Given the description of an element on the screen output the (x, y) to click on. 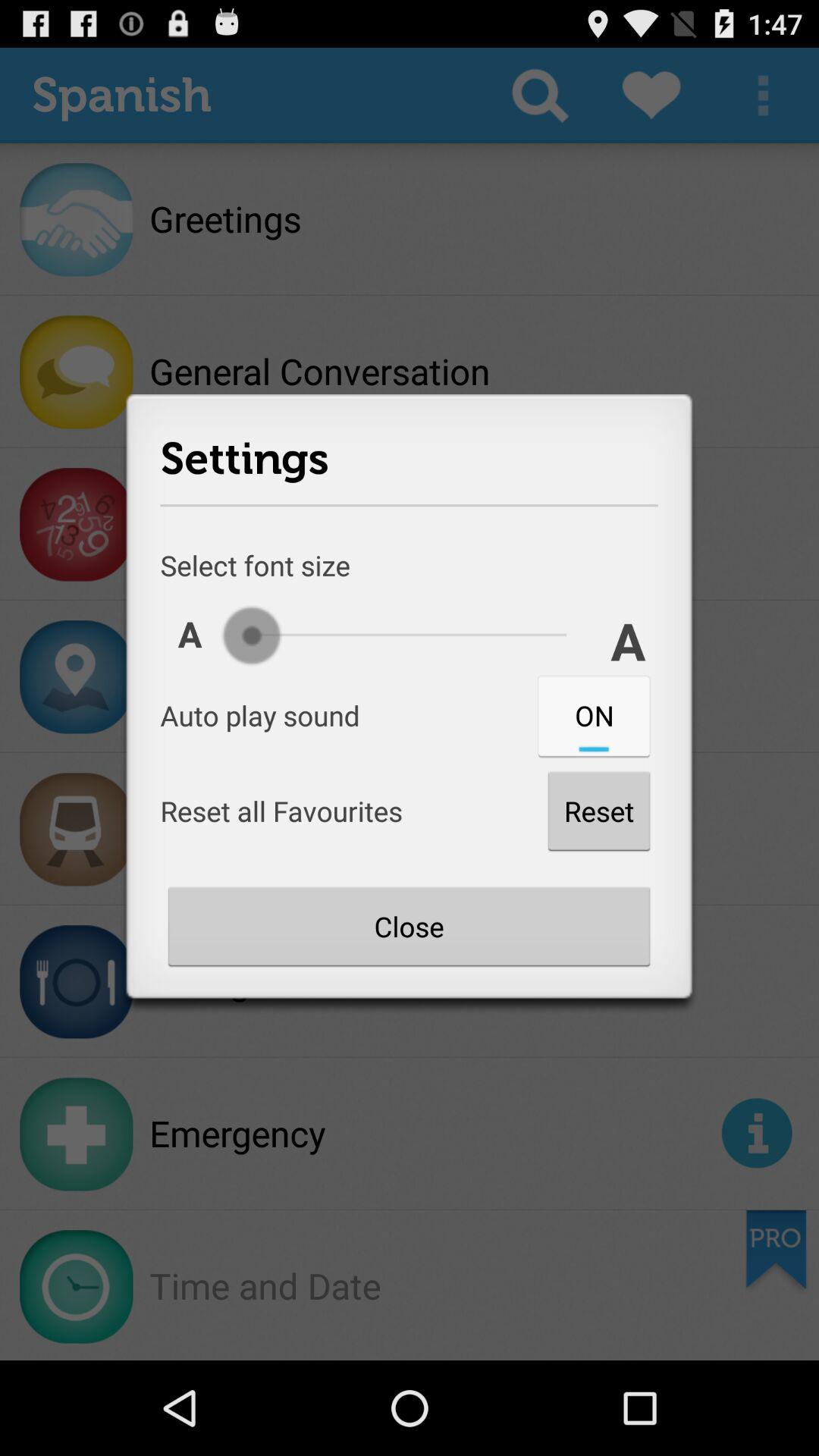
select close icon (409, 926)
